Given the description of an element on the screen output the (x, y) to click on. 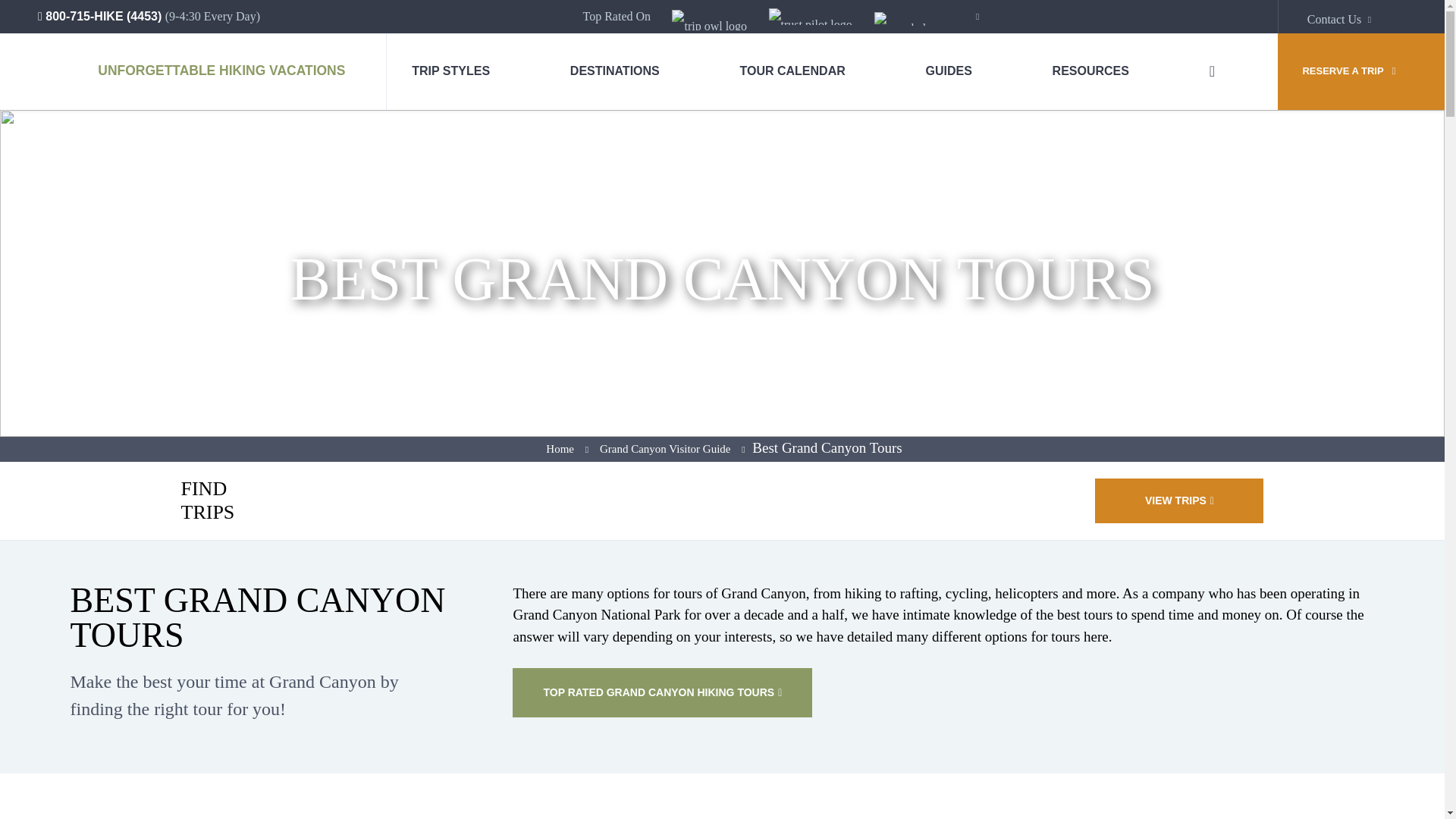
DESTINATIONS (614, 71)
UNFORGETTABLE HIKING VACATIONS (213, 71)
TRIP STYLES (450, 71)
Contact Us (1342, 19)
